Given the description of an element on the screen output the (x, y) to click on. 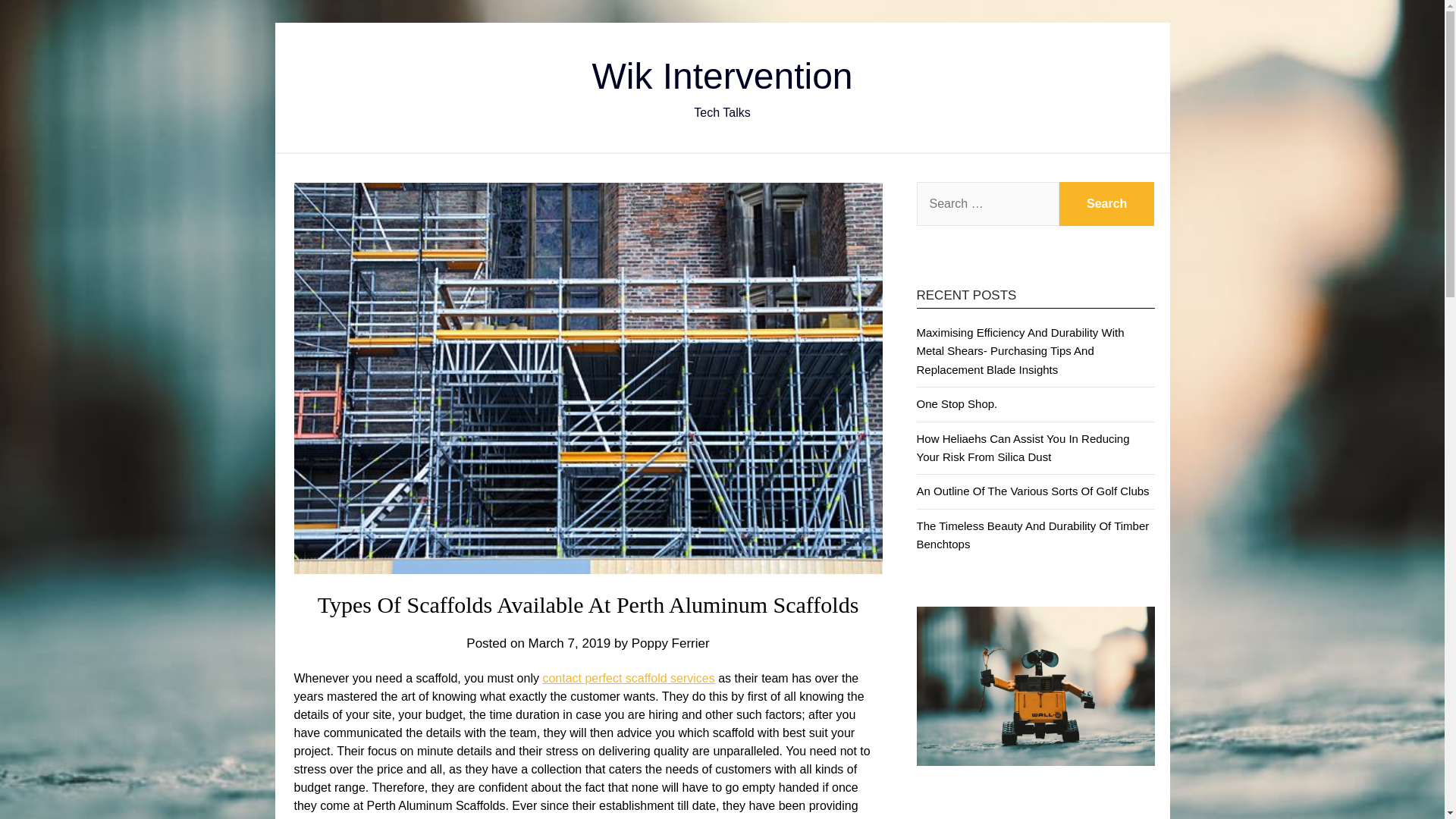
Poppy Ferrier (670, 643)
Search (1106, 203)
One Stop Shop. (956, 403)
The Timeless Beauty And Durability Of Timber Benchtops (1031, 534)
Search (1106, 203)
March 7, 2019 (569, 643)
An Outline Of The Various Sorts Of Golf Clubs (1031, 490)
contact perfect scaffold services (627, 677)
Search (1106, 203)
Wik Intervention (721, 76)
